Given the description of an element on the screen output the (x, y) to click on. 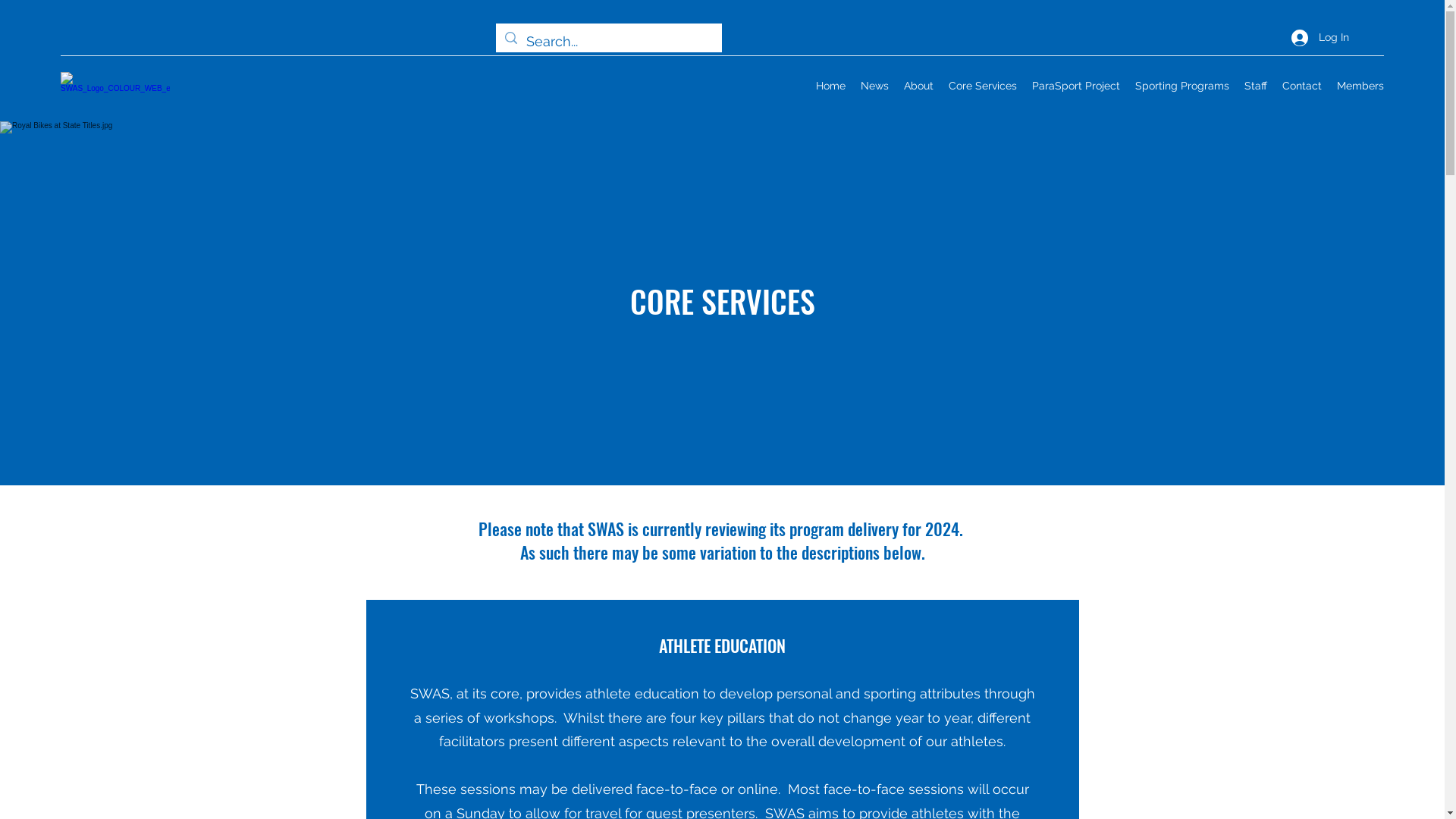
Staff Element type: text (1255, 85)
Sporting Programs Element type: text (1181, 85)
Members Element type: text (1360, 85)
Home Element type: text (830, 85)
News Element type: text (874, 85)
Contact Element type: text (1301, 85)
Core Services Element type: text (982, 85)
ParaSport Project Element type: text (1075, 85)
Log In Element type: text (1319, 37)
About Element type: text (918, 85)
ATHLETE EDUCATION Element type: text (721, 645)
